Given the description of an element on the screen output the (x, y) to click on. 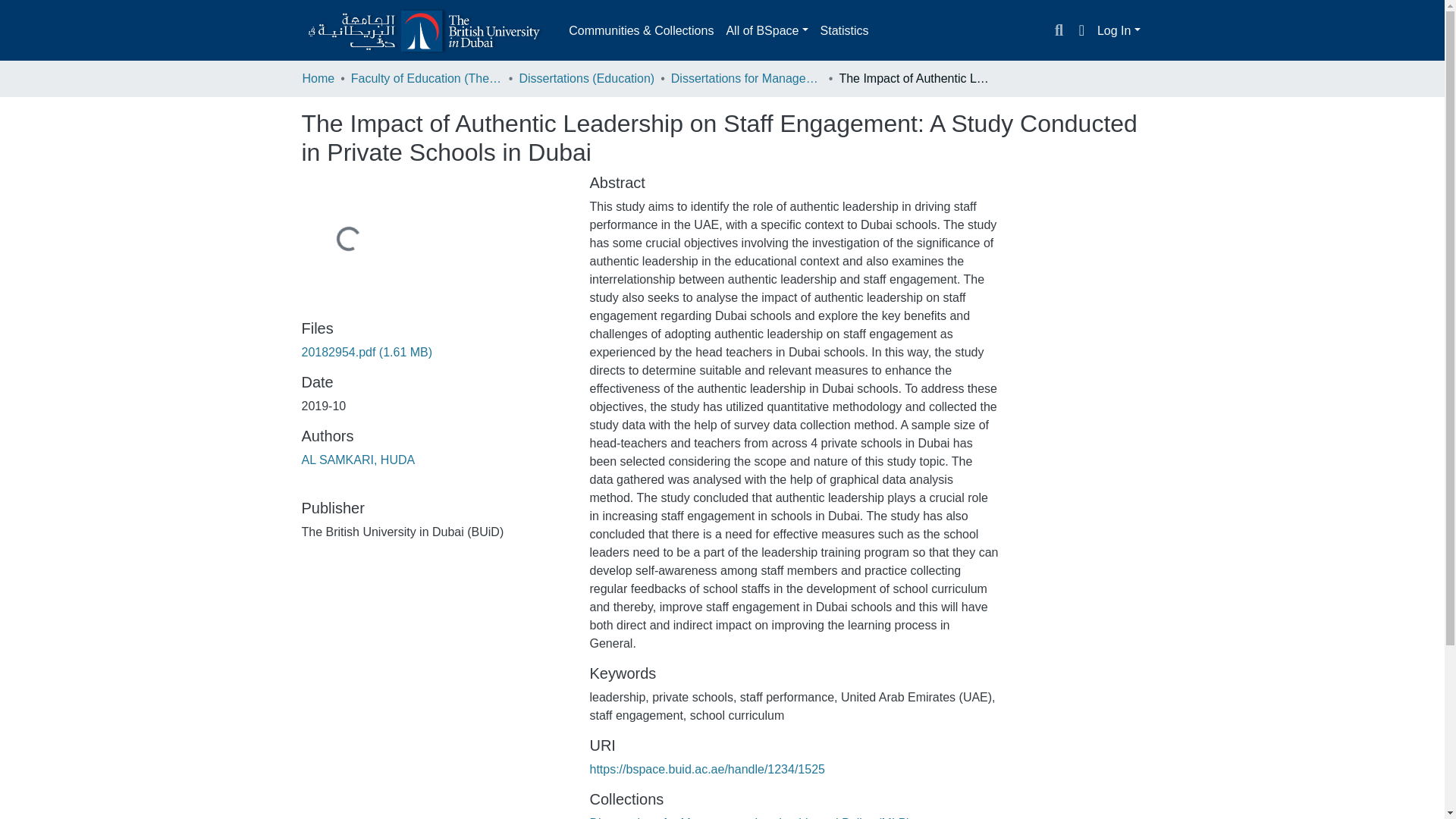
Search (1058, 30)
Statistics (844, 30)
Home (317, 78)
All of BSpace (766, 30)
Language switch (1081, 30)
AL SAMKARI, HUDA (357, 459)
Statistics (844, 30)
Log In (1118, 30)
